Given the description of an element on the screen output the (x, y) to click on. 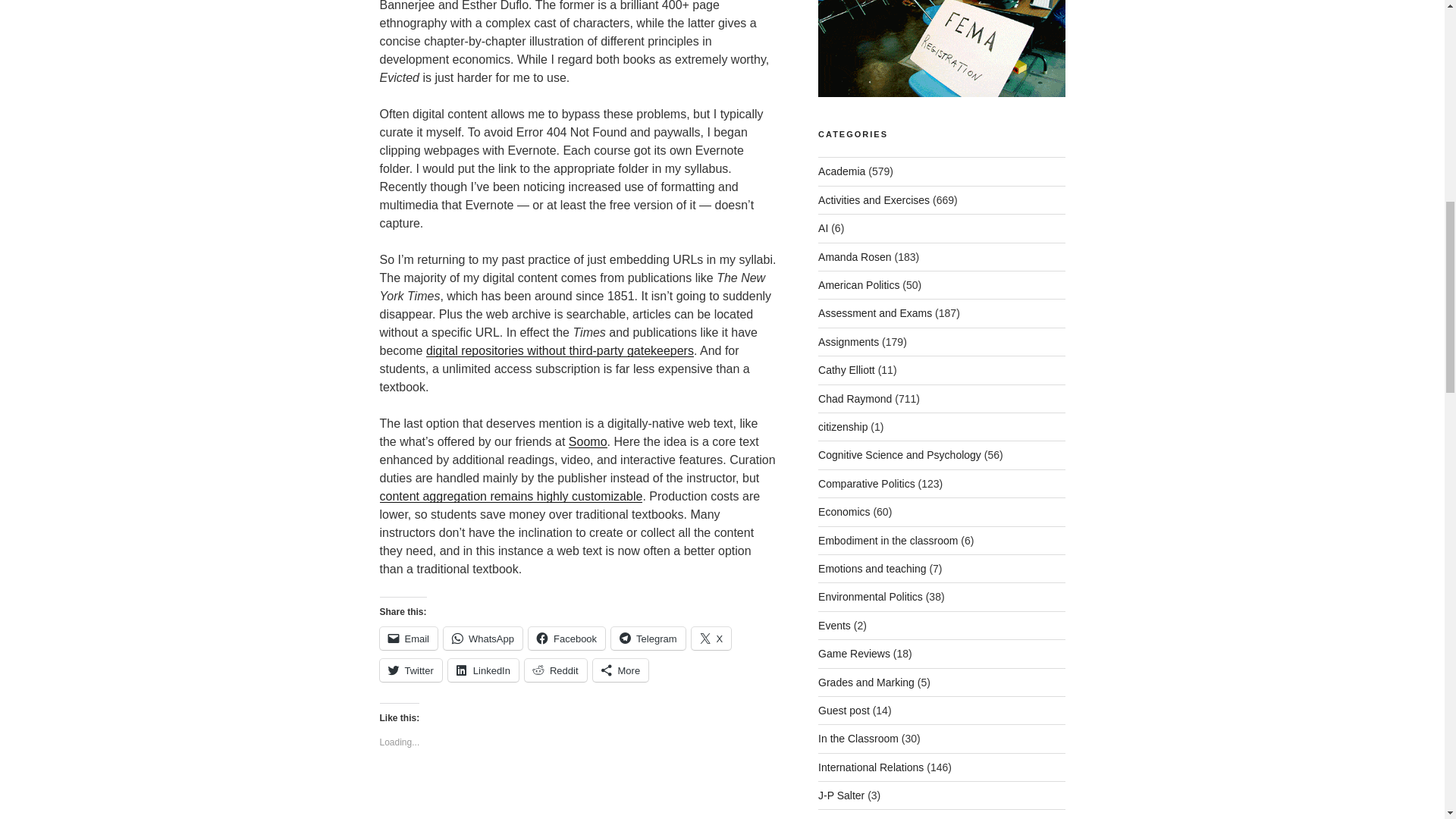
Soomo (588, 440)
Click to share on X (711, 638)
Academia (841, 171)
Activities and Exercises (874, 200)
Email (408, 638)
Reddit (555, 670)
Click to share on LinkedIn (483, 670)
Click to share on Twitter (409, 670)
X (711, 638)
LinkedIn (483, 670)
Amanda Rosen (854, 256)
Click to share on Telegram (647, 638)
digital repositories without third-party gatekeepers (560, 350)
Click to share on Reddit (555, 670)
Click to share on Facebook (566, 638)
